Given the description of an element on the screen output the (x, y) to click on. 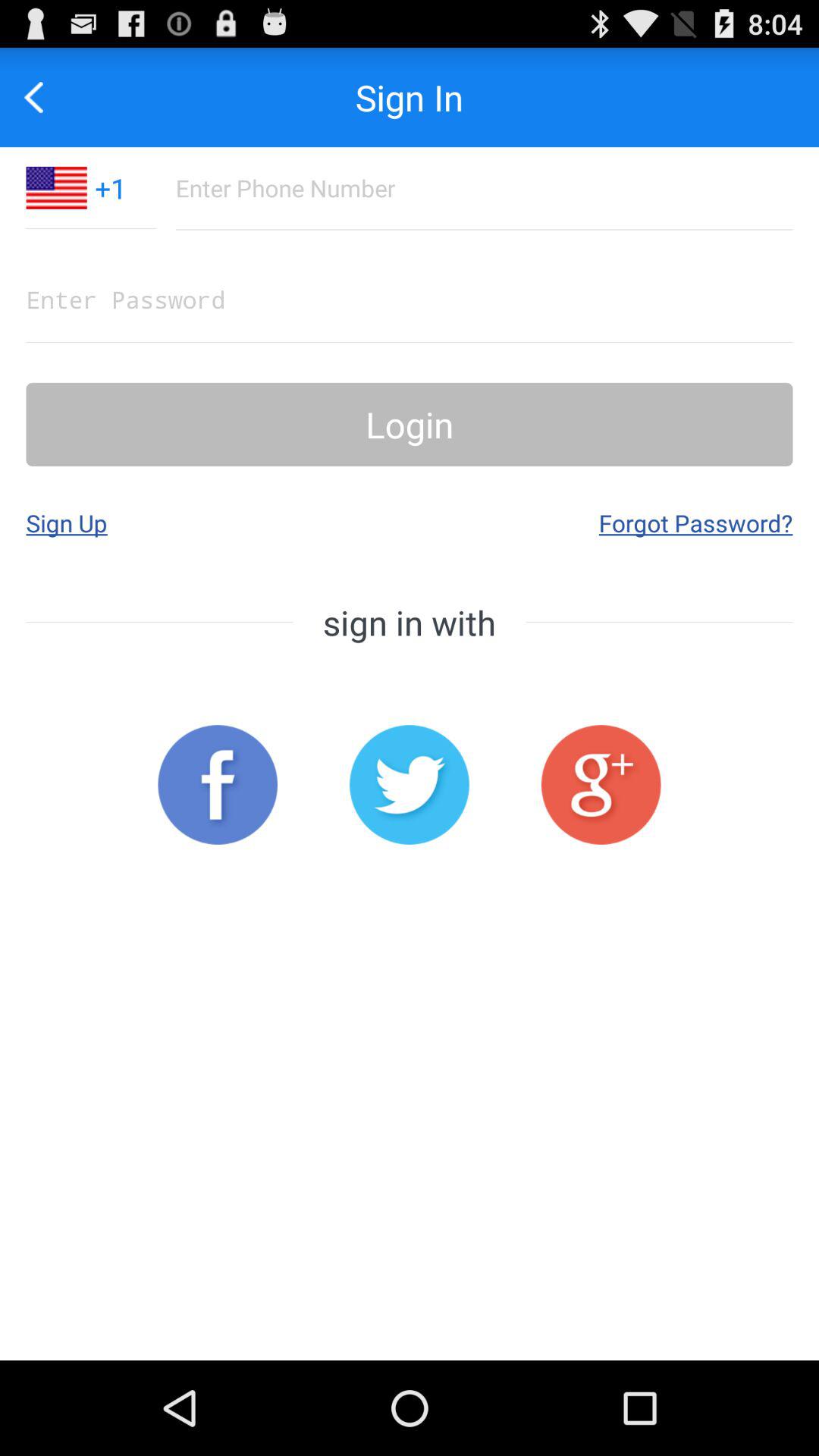
usa flag (56, 187)
